Given the description of an element on the screen output the (x, y) to click on. 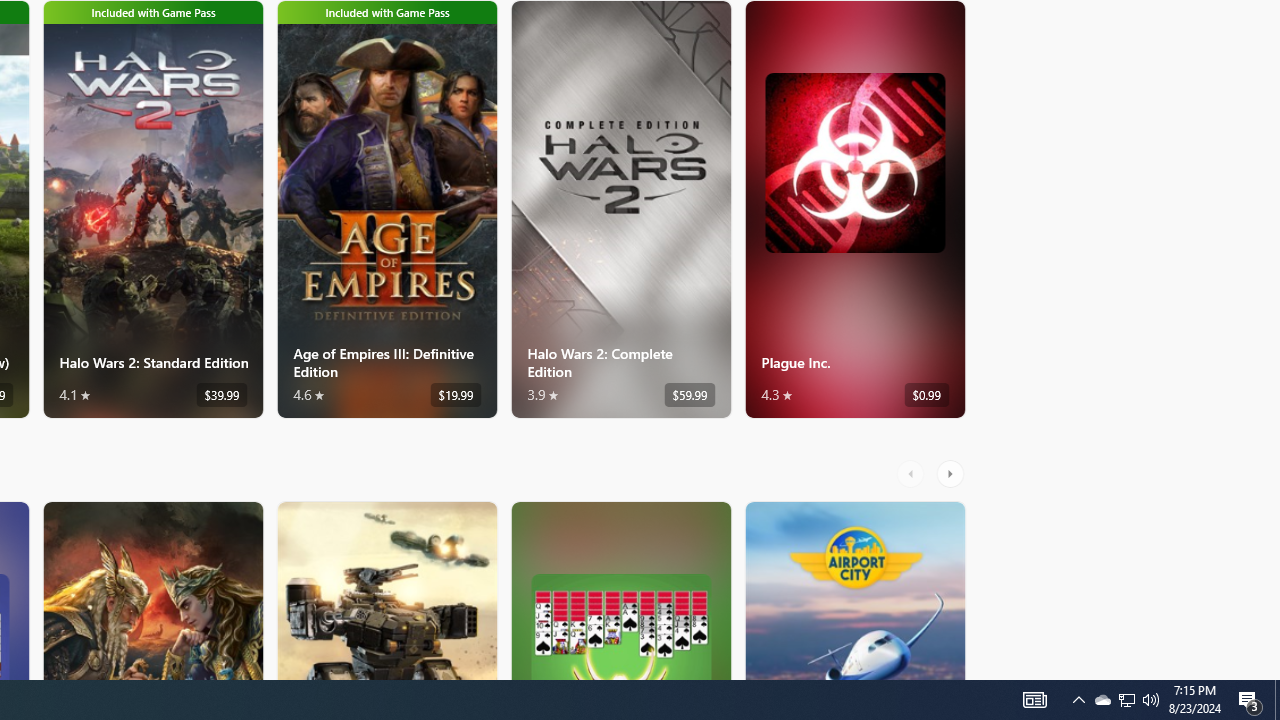
AutomationID: LeftScrollButton (913, 473)
AutomationID: RightScrollButton (952, 473)
